Given the description of an element on the screen output the (x, y) to click on. 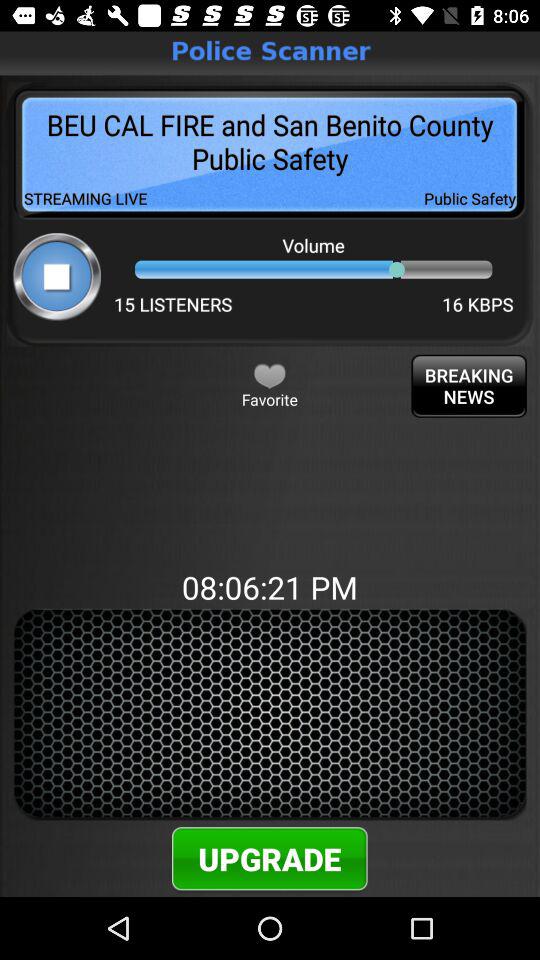
the button us used to add it to the favorite (269, 375)
